Given the description of an element on the screen output the (x, y) to click on. 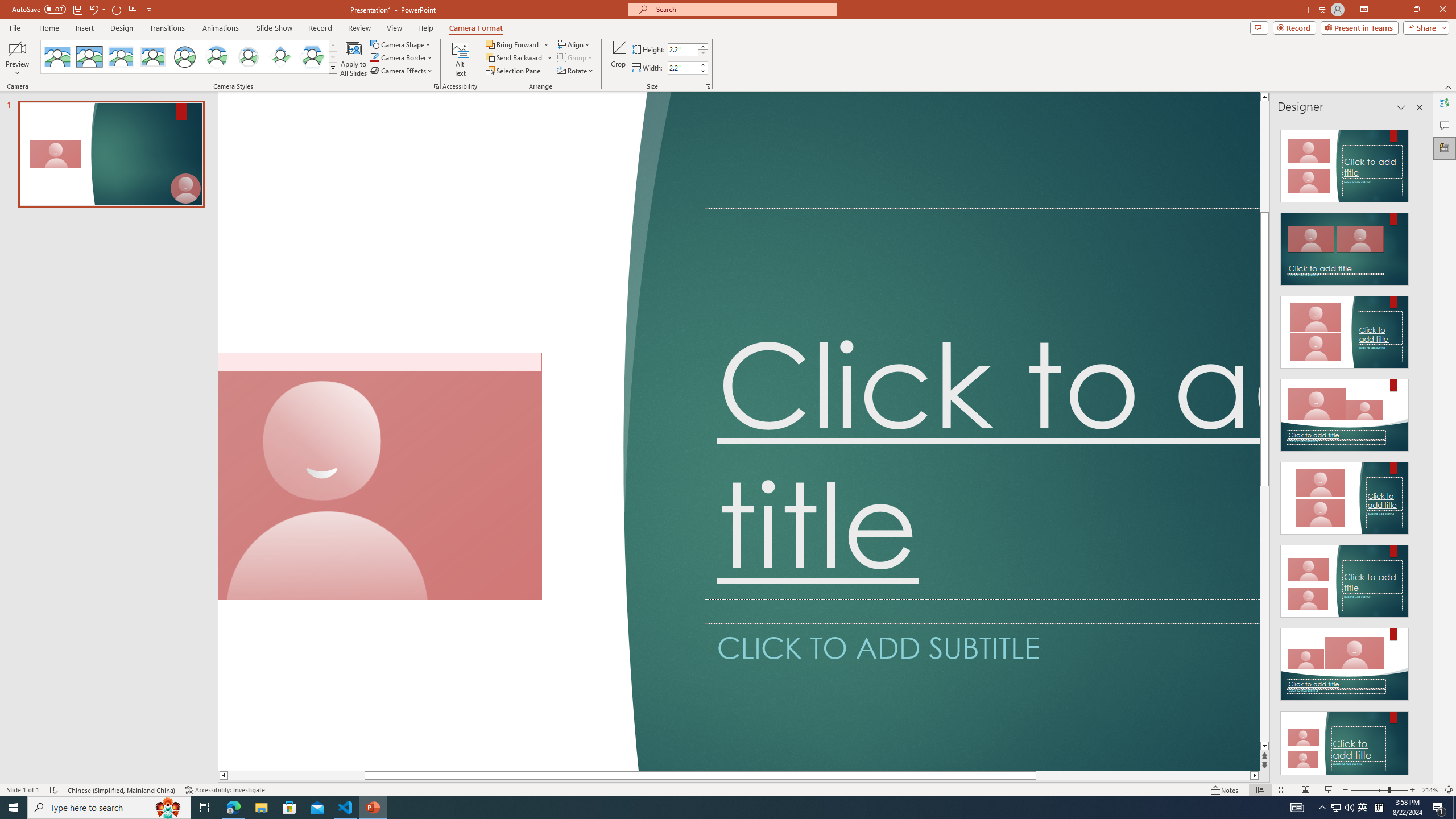
Group (575, 56)
Camera Styles (333, 67)
Camera Shape (400, 44)
Rotate (575, 69)
